Given the description of an element on the screen output the (x, y) to click on. 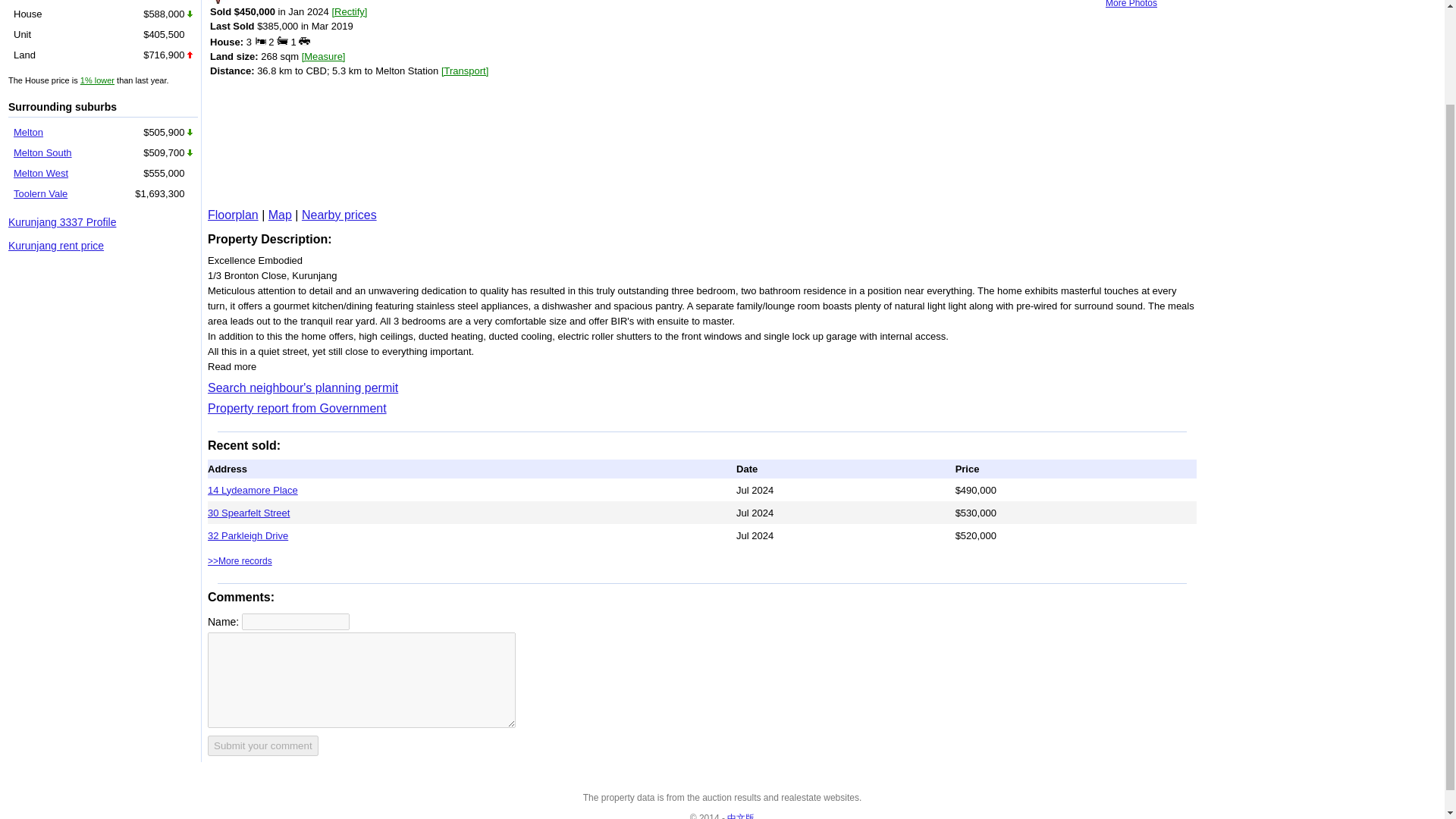
Property report from Government (297, 408)
Kurunjang rent price (55, 245)
Melton (28, 132)
30 Spearfelt Street (248, 512)
Nearby prices (339, 214)
Bed rooms (260, 40)
32 Parkleigh Drive (248, 535)
Submit your comment (263, 745)
Toolern Vale (39, 193)
Kurunjang 3337 Profile (62, 222)
Advertisement (433, 142)
Correct the sold price (348, 11)
More Photos (1131, 4)
Search neighbour's planning permit (302, 387)
Bath rooms (282, 40)
